Given the description of an element on the screen output the (x, y) to click on. 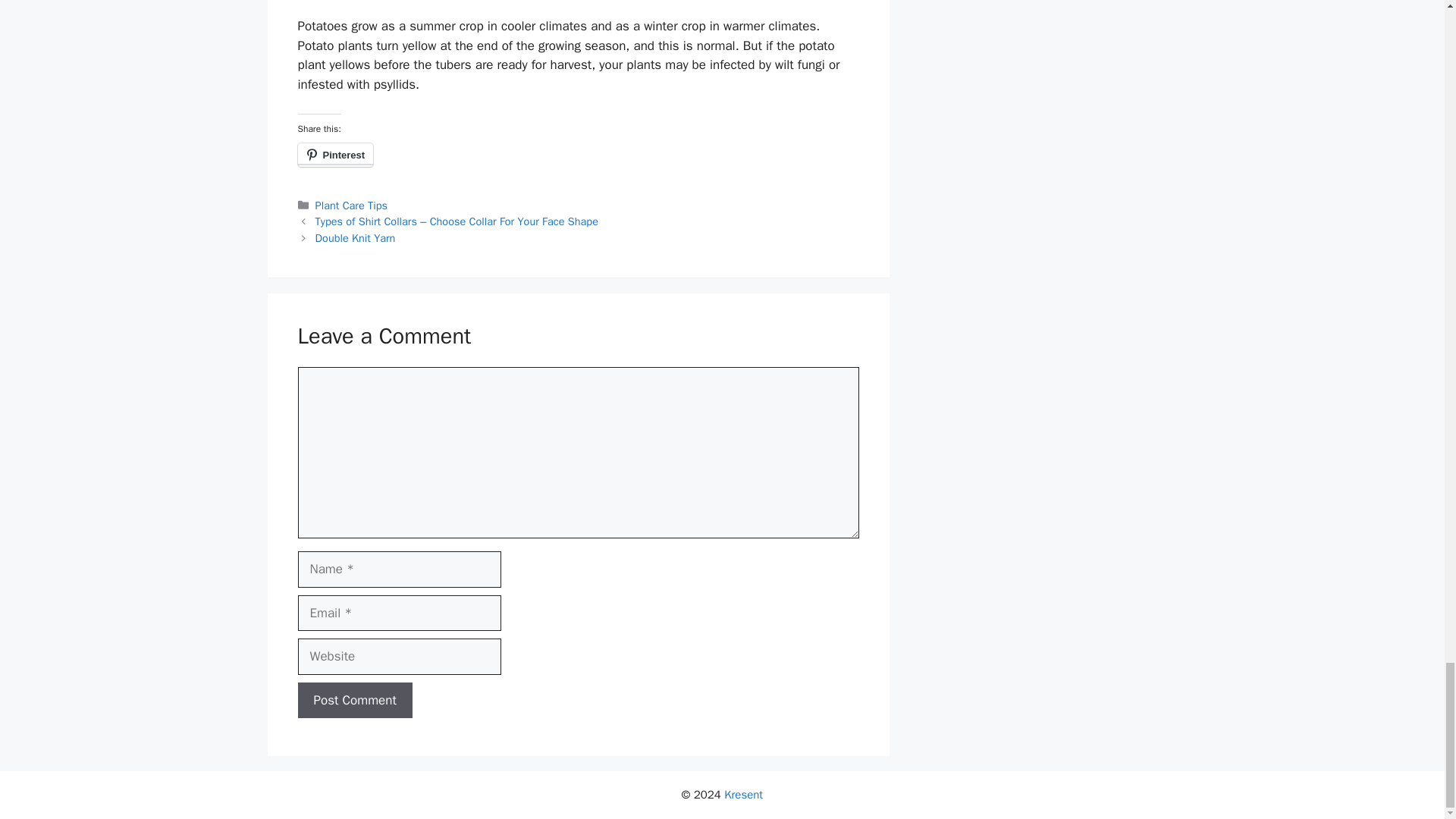
Post Comment (354, 700)
Click to share on Pinterest (334, 155)
Plant Care Tips (351, 205)
Pinterest (334, 155)
